Given the description of an element on the screen output the (x, y) to click on. 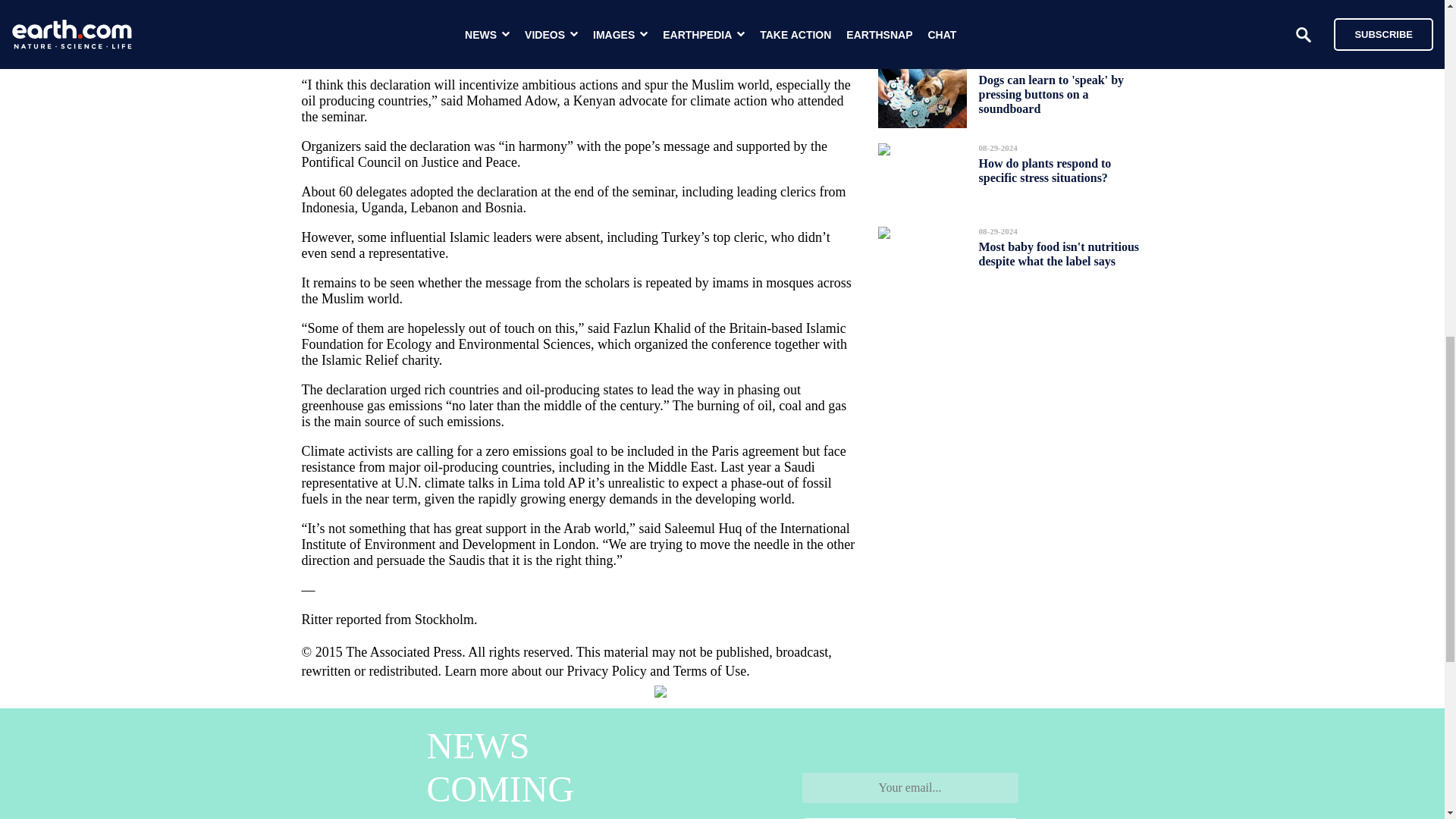
Climate (447, 0)
Most baby food isn't nutritious despite what the label says (1058, 253)
How do plants respond to specific stress situations? (1044, 170)
